Given the description of an element on the screen output the (x, y) to click on. 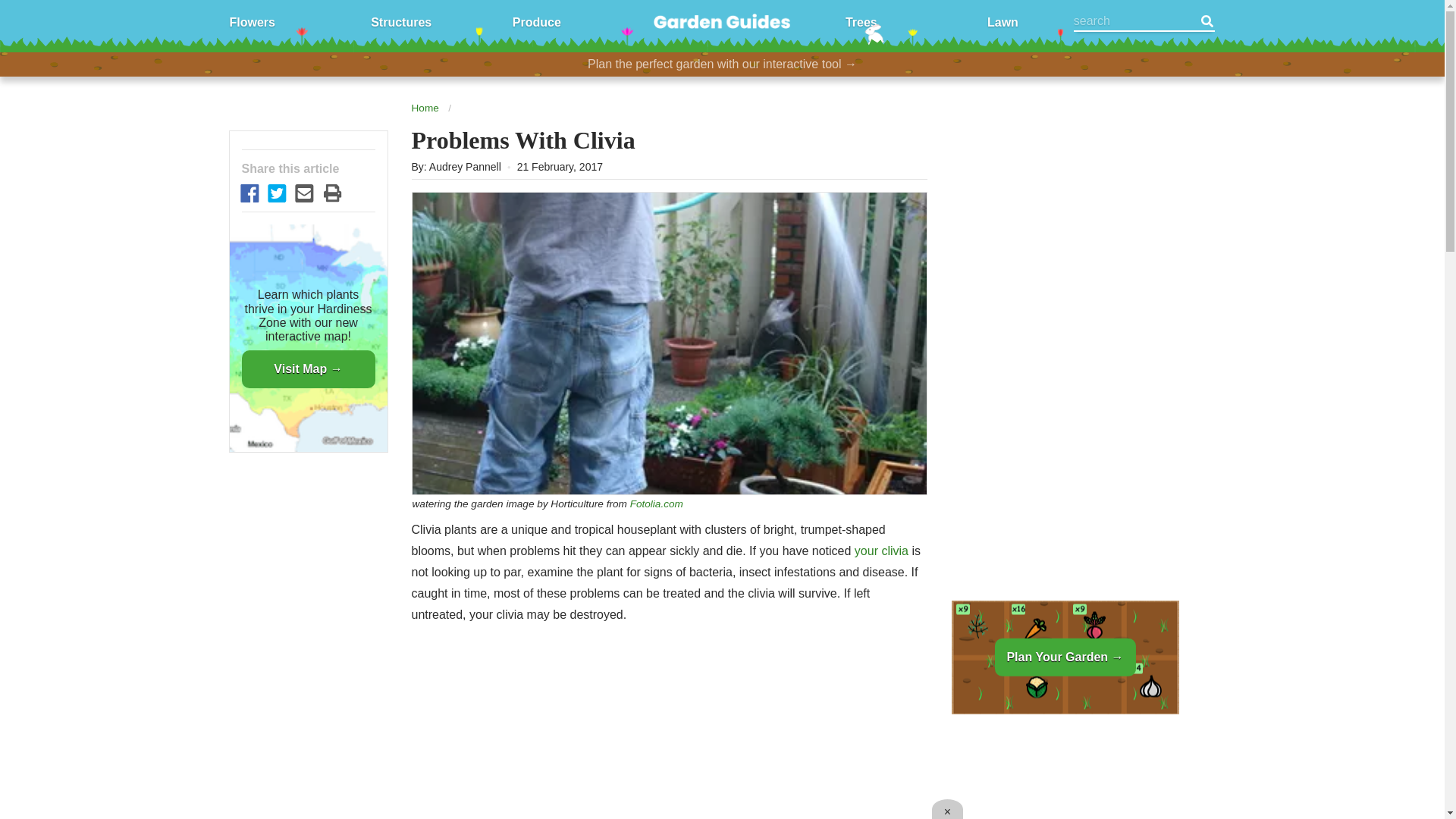
Produce (536, 21)
Flowers (251, 21)
Home (424, 107)
Structures (400, 21)
your clivia (881, 550)
Advertisement (668, 728)
Trees (861, 21)
Fotolia.com (656, 503)
Lawn (1002, 21)
